Given the description of an element on the screen output the (x, y) to click on. 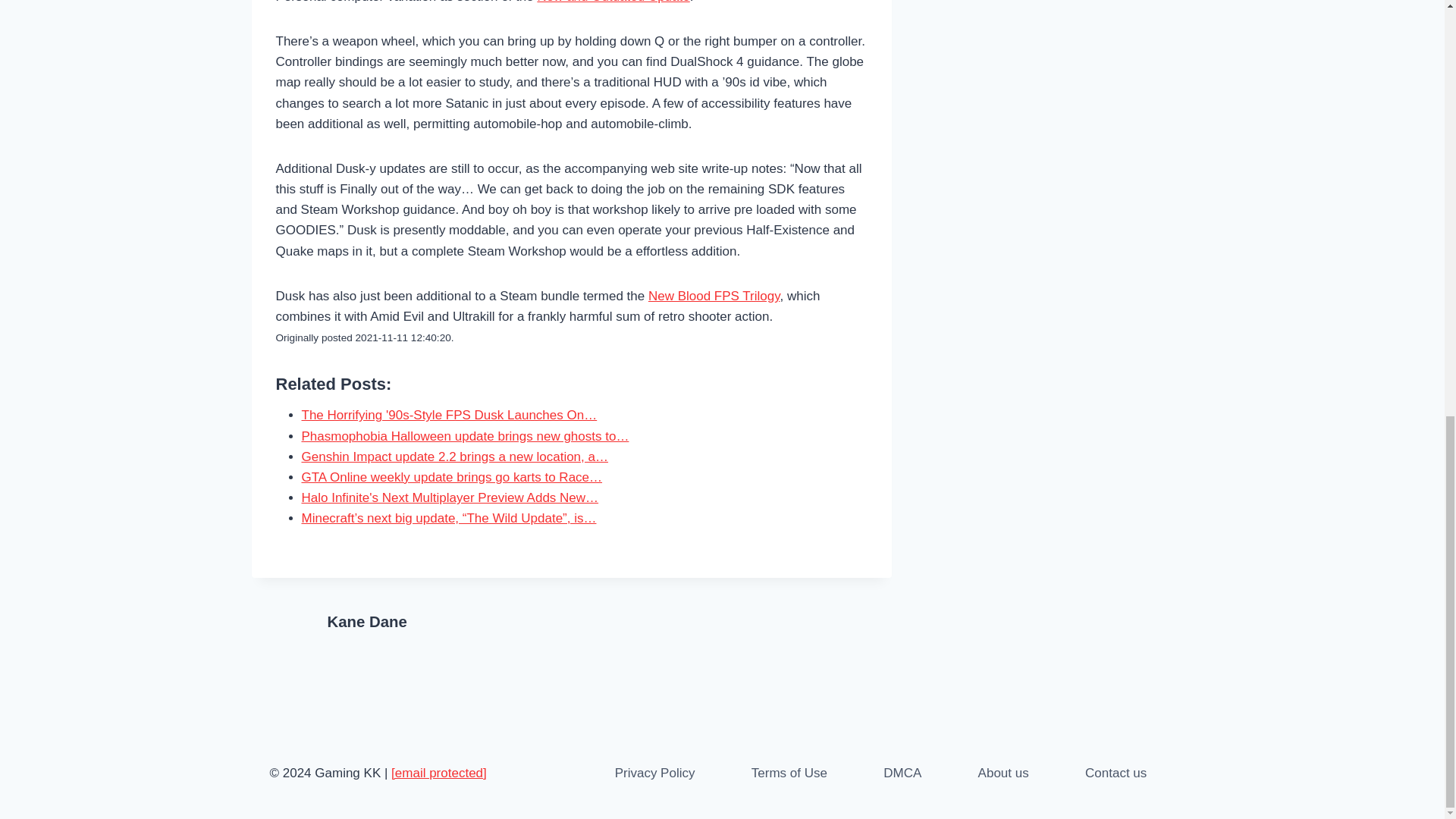
Kane Dane (367, 621)
New and Outdated Update (612, 2)
New Blood FPS Trilogy (713, 296)
Posts by Kane Dane (367, 621)
